Given the description of an element on the screen output the (x, y) to click on. 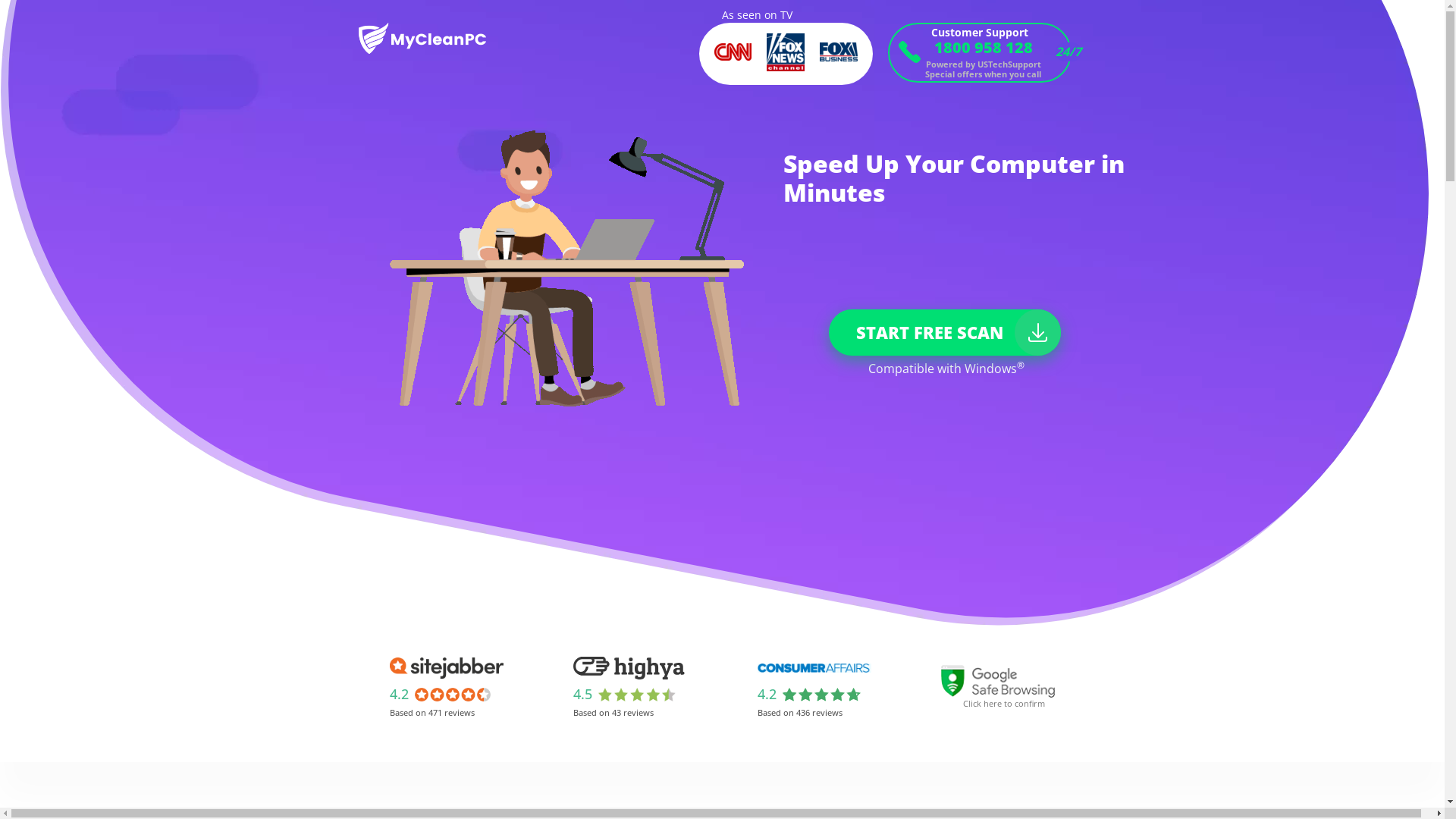
Based on 43 reviews
4.5 Element type: text (629, 686)
Based on 436 reviews
4.2 Element type: text (813, 686)
Click here to confirm Element type: text (997, 686)
1800 958 128 Element type: text (978, 47)
Based on 471 reviews
4.2 Element type: text (446, 686)
START FREE SCAN Element type: text (944, 332)
